Given the description of an element on the screen output the (x, y) to click on. 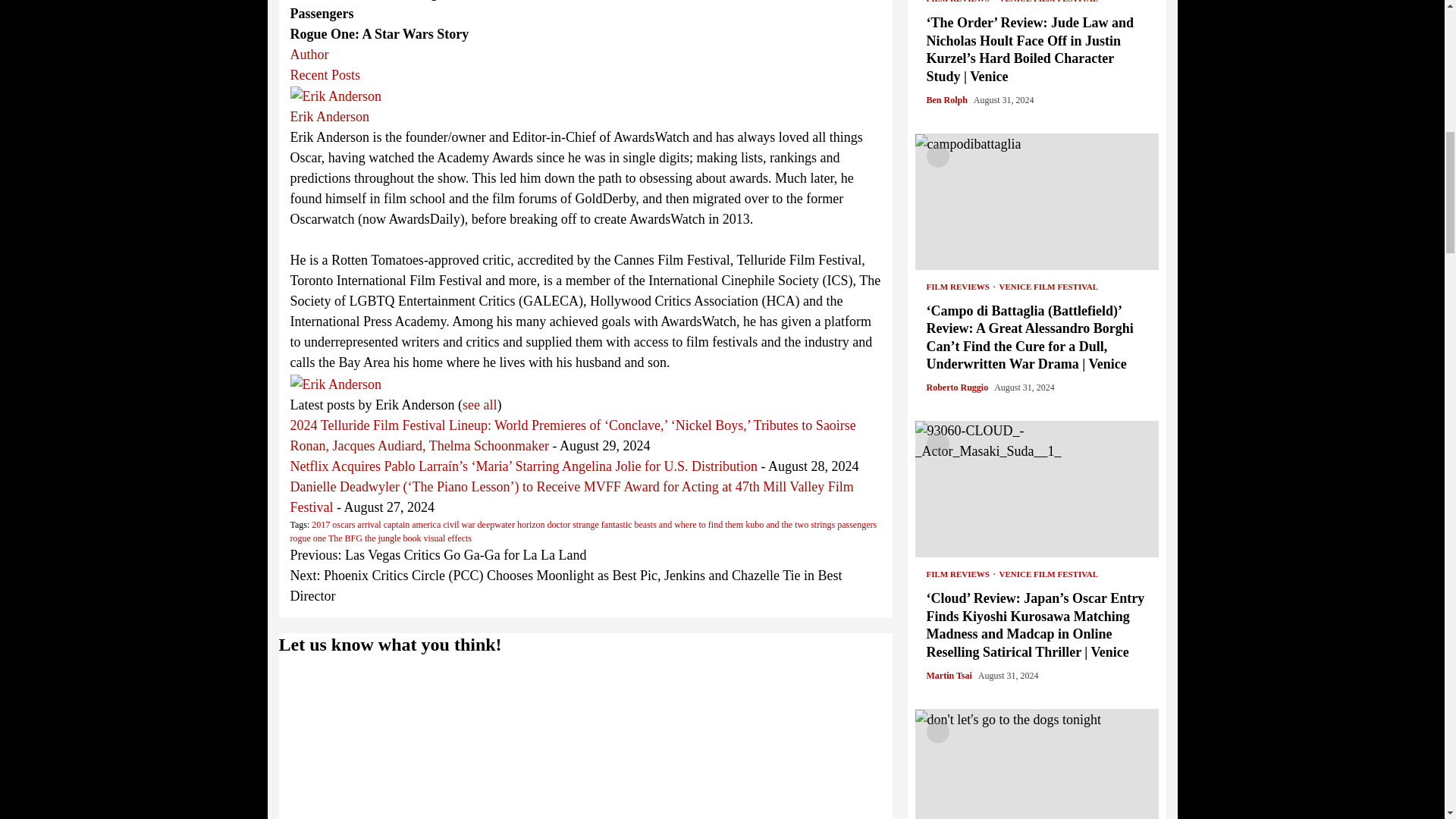
Comment Form (585, 741)
Erik Anderson (334, 382)
Erik Anderson (334, 95)
